Given the description of an element on the screen output the (x, y) to click on. 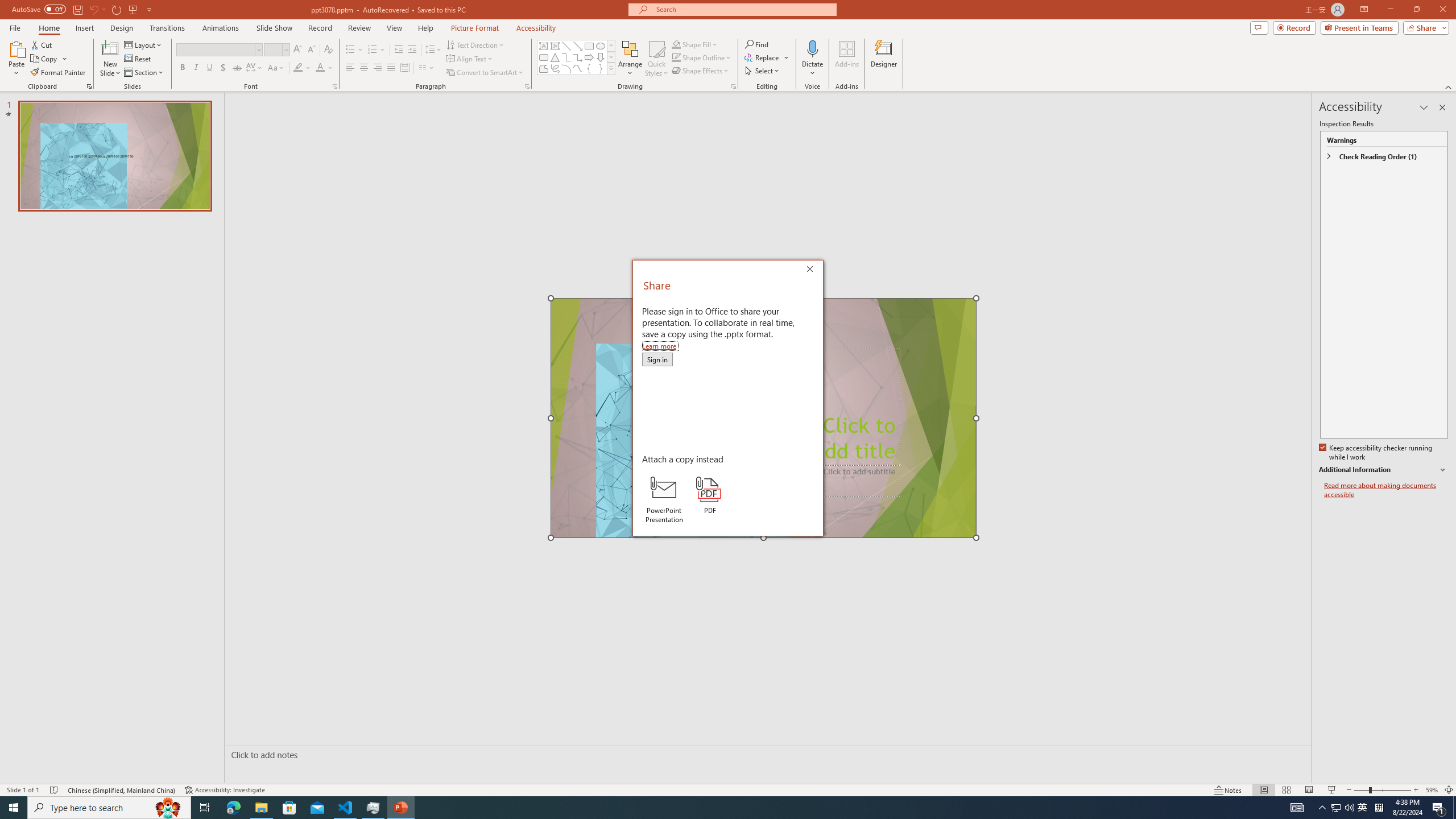
Task Manager - 1 running window (373, 807)
File Explorer - 1 running window (261, 807)
